Given the description of an element on the screen output the (x, y) to click on. 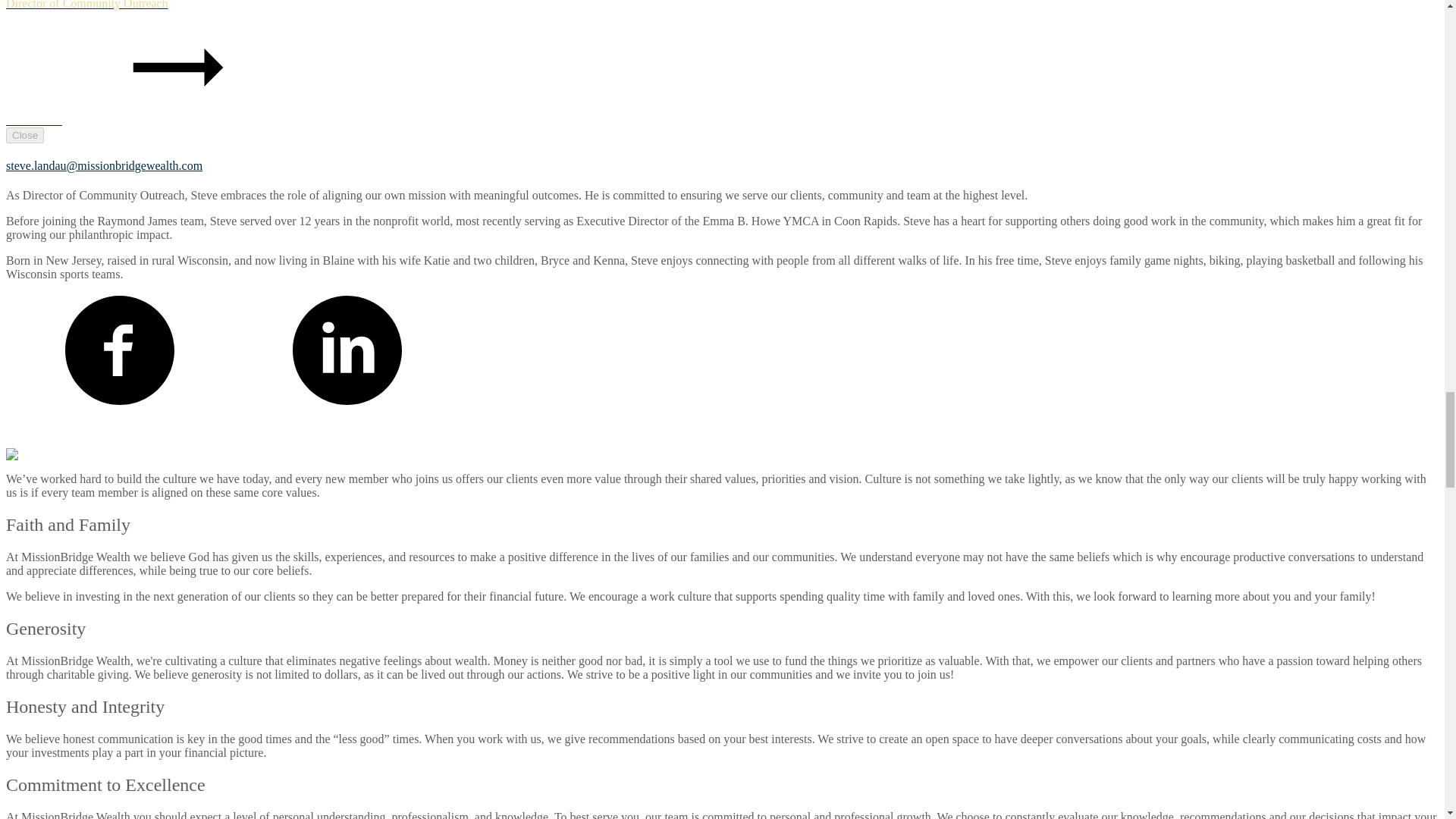
Close (24, 135)
